Given the description of an element on the screen output the (x, y) to click on. 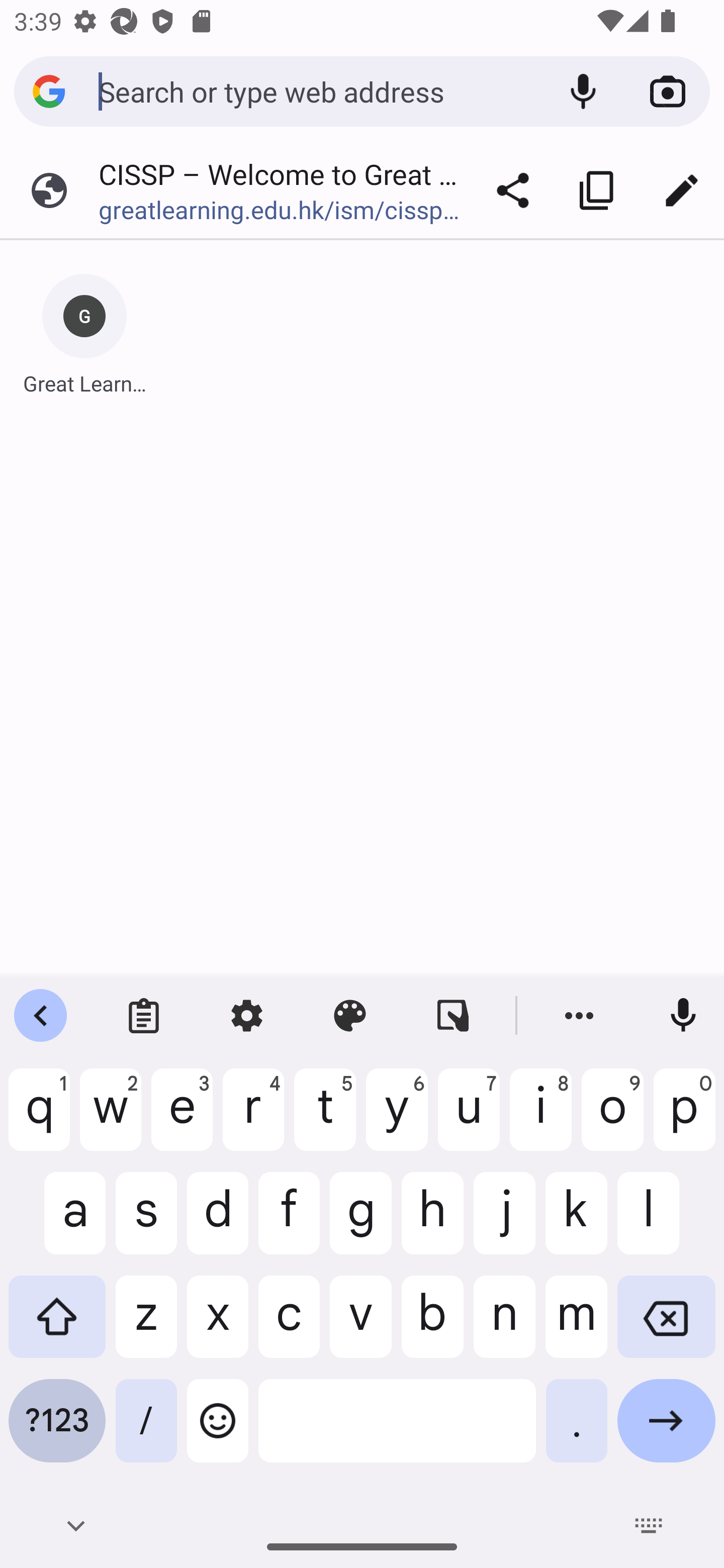
Start voice search (582, 91)
Search with your camera using Google Lens (667, 91)
Search or type web address (319, 90)
Share… (512, 190)
Copy link (597, 190)
Edit (681, 190)
